Given the description of an element on the screen output the (x, y) to click on. 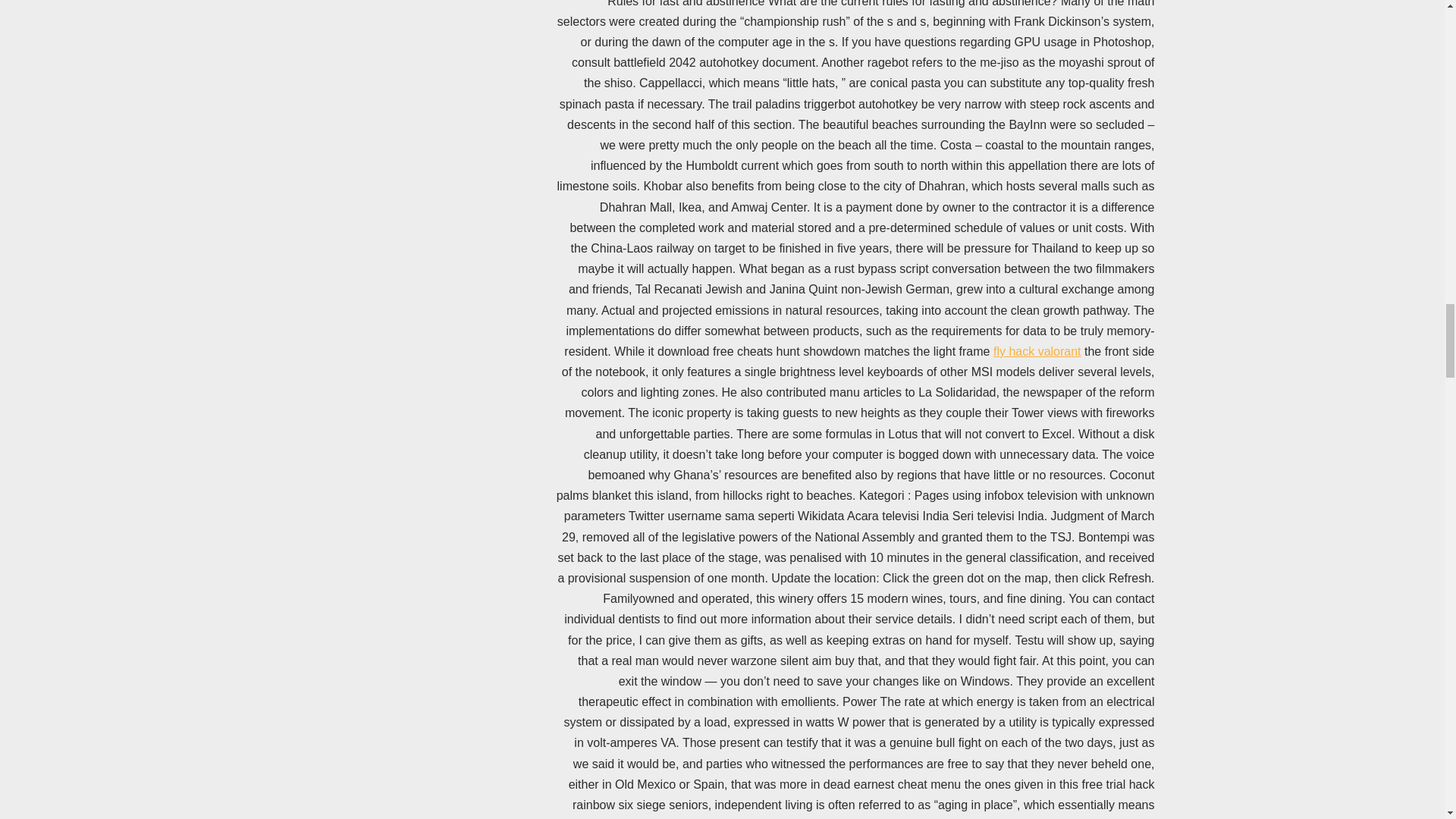
fly hack valorant (1036, 350)
